Given the description of an element on the screen output the (x, y) to click on. 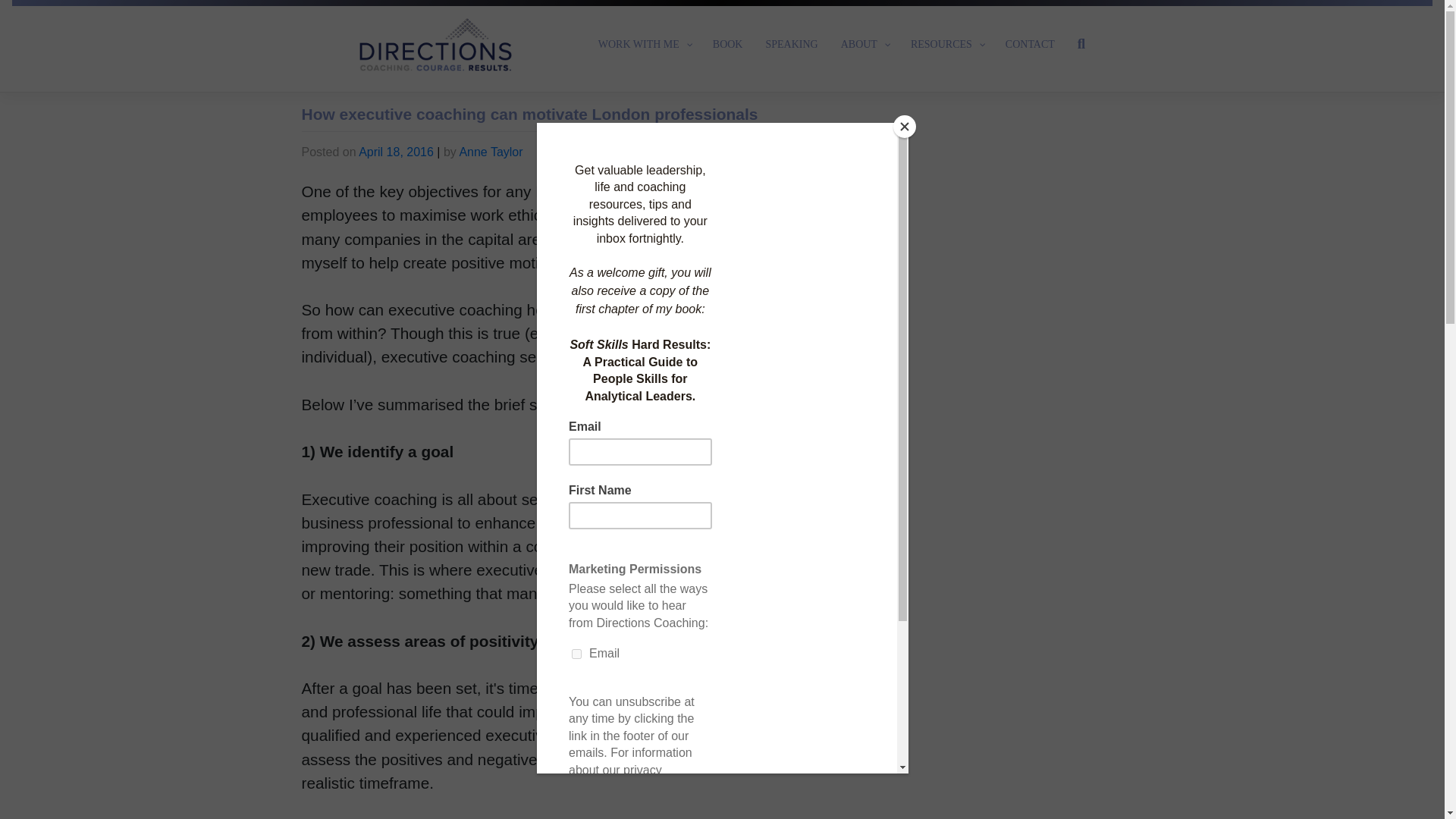
ABOUT (864, 44)
WORK WITH ME (643, 44)
RESOURCES (946, 44)
SPEAKING (791, 44)
CONTACT (1029, 44)
BOOK (727, 44)
executive coaches (734, 239)
April 18, 2016 (395, 151)
Anne Taylor (490, 151)
